Given the description of an element on the screen output the (x, y) to click on. 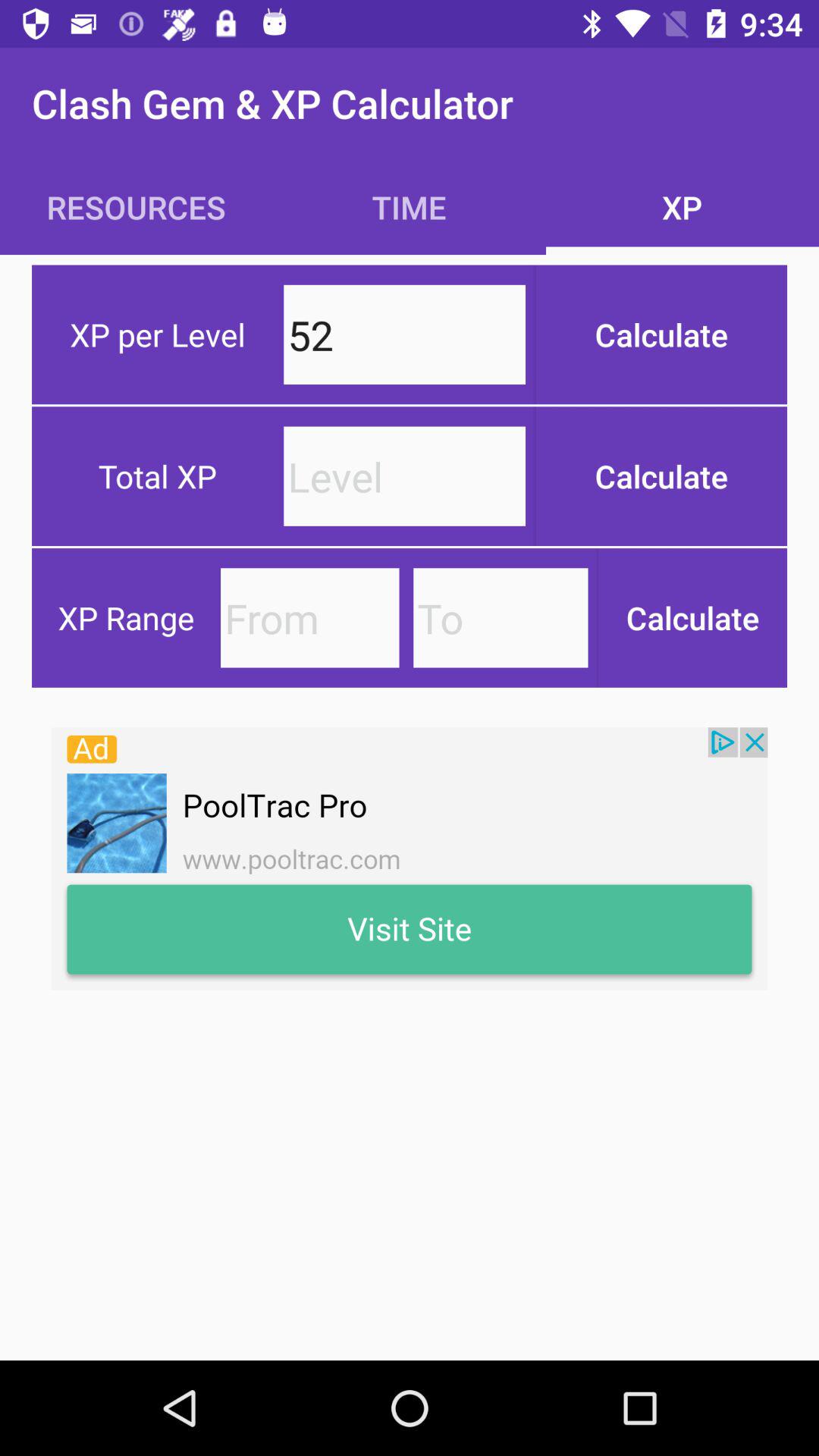
to visit site (409, 858)
